Given the description of an element on the screen output the (x, y) to click on. 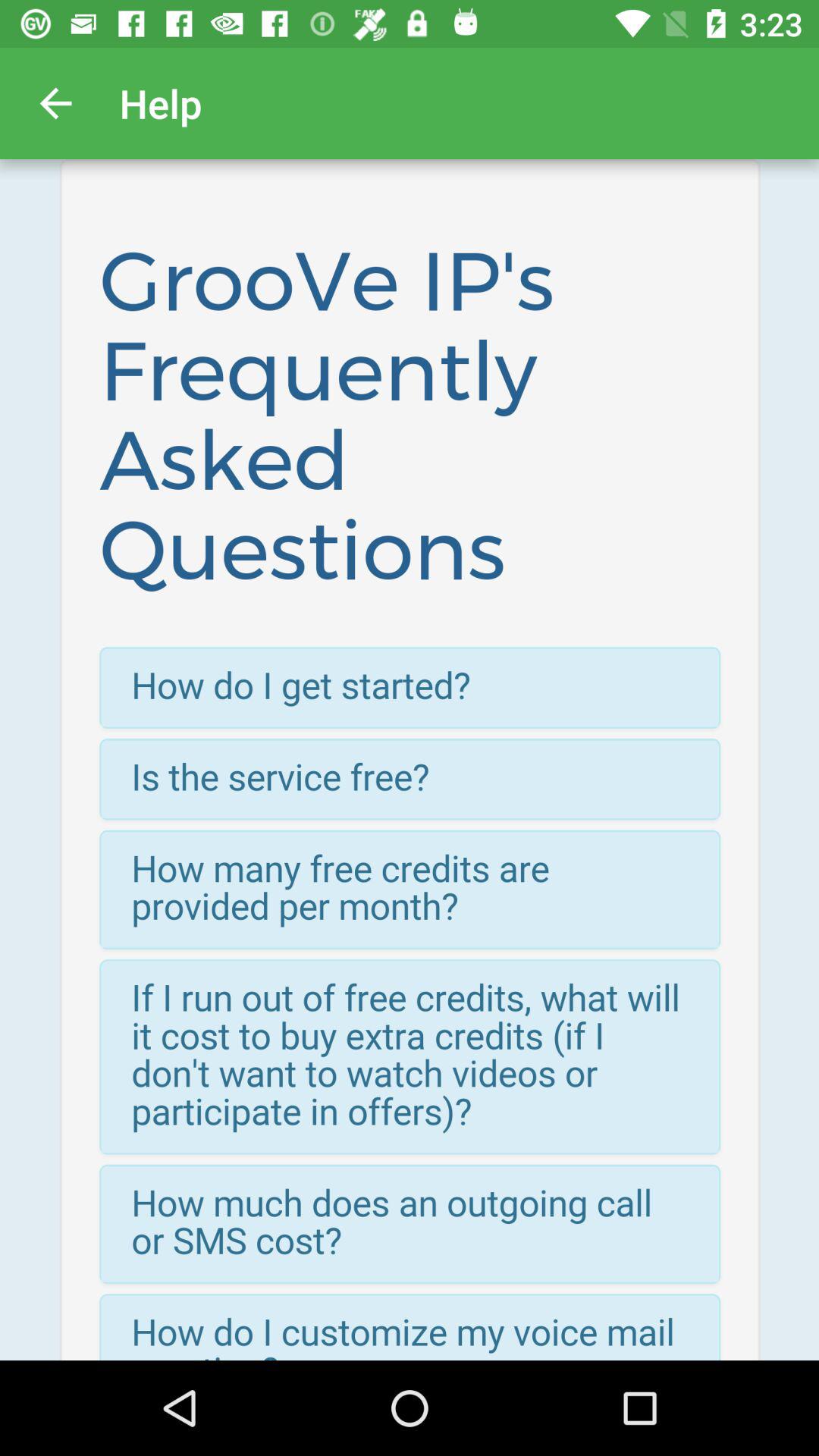
help section (409, 759)
